Given the description of an element on the screen output the (x, y) to click on. 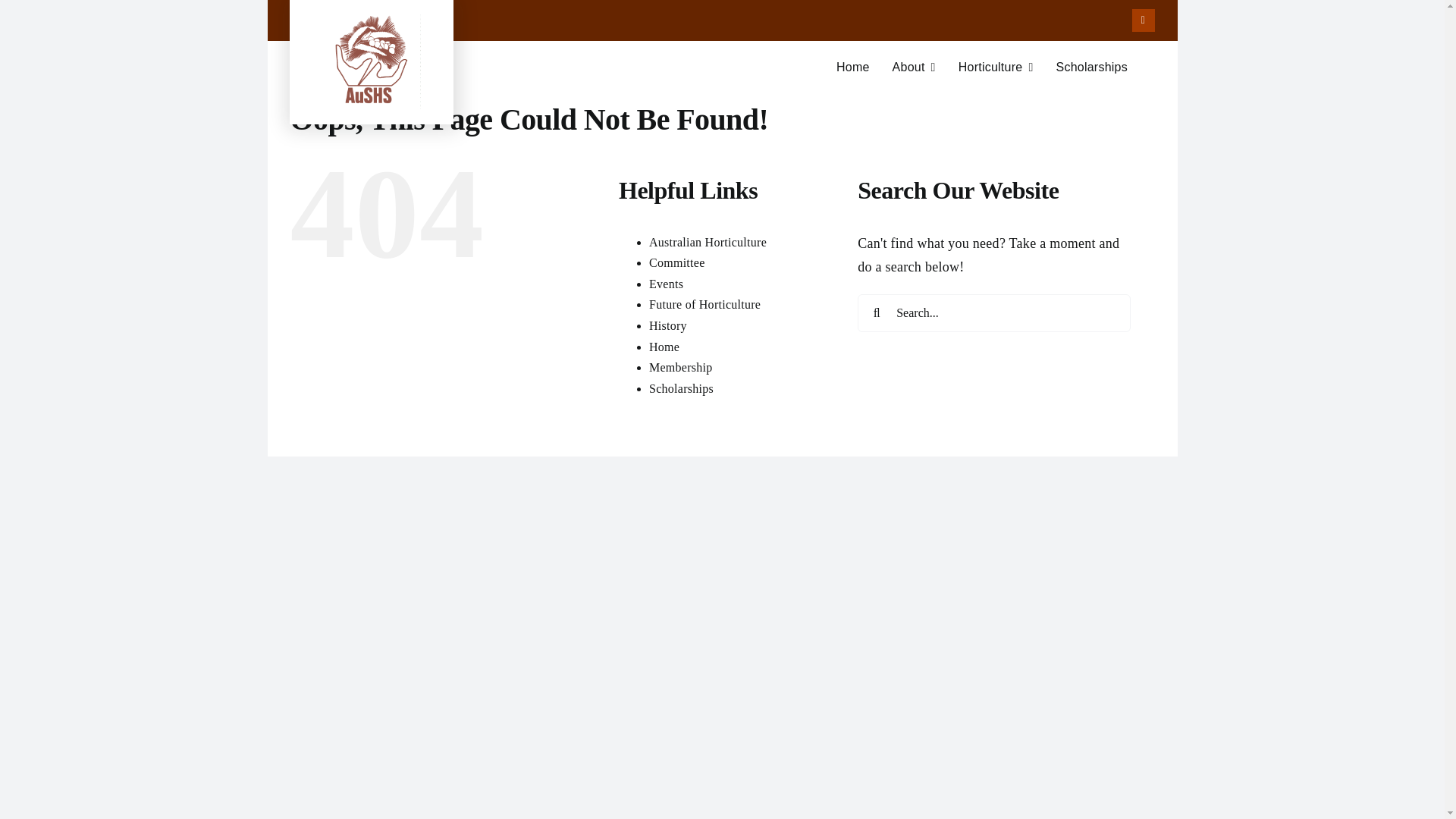
Membership (681, 367)
Scholarships (681, 388)
History (668, 325)
Events (665, 283)
Horticulture (995, 67)
Home (664, 345)
Australian Horticulture (708, 241)
Future of Horticulture (704, 304)
Scholarships (1090, 67)
Committee (676, 262)
